Given the description of an element on the screen output the (x, y) to click on. 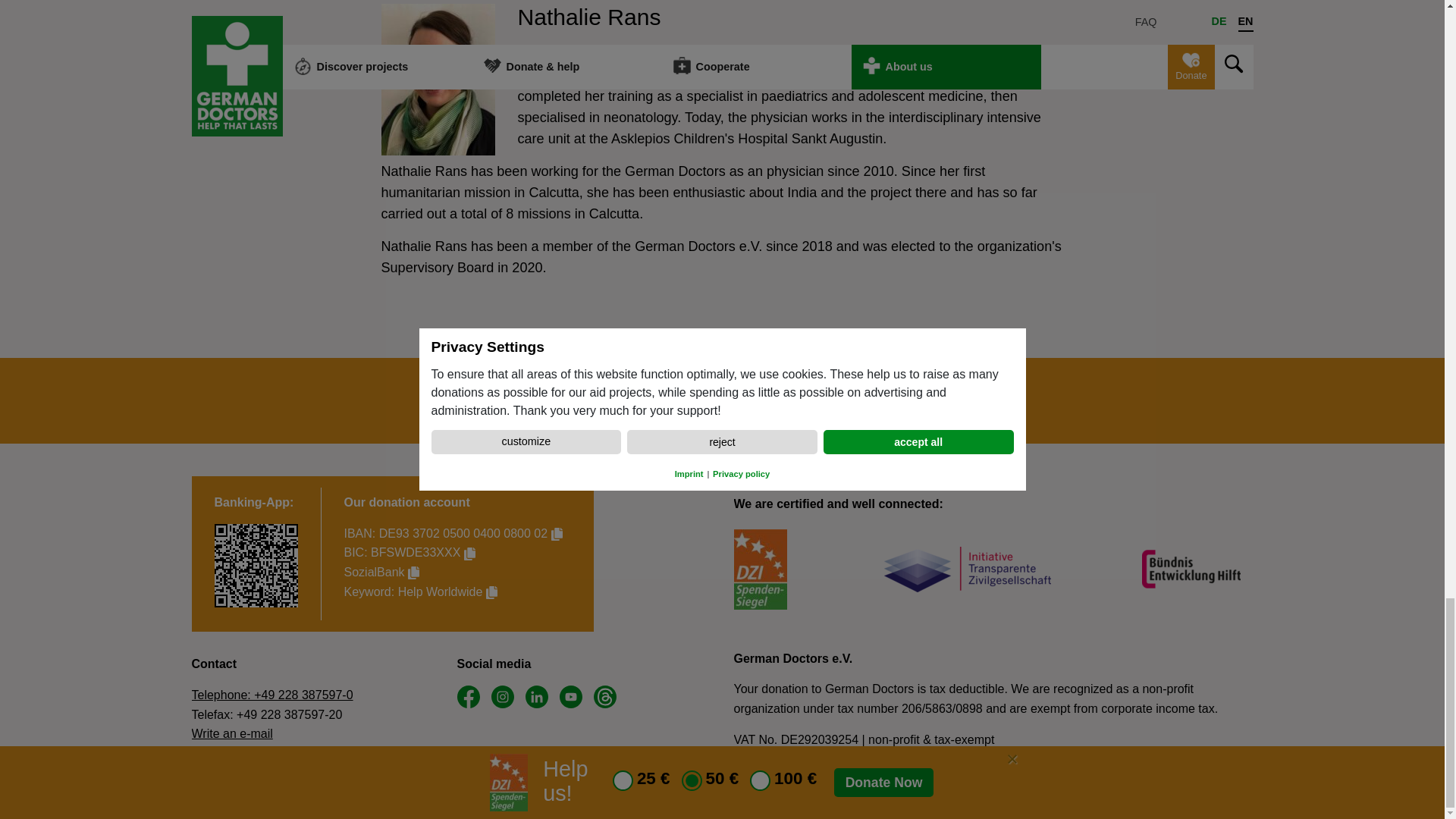
25 (614, 399)
100 (751, 399)
50 (682, 399)
